Given the description of an element on the screen output the (x, y) to click on. 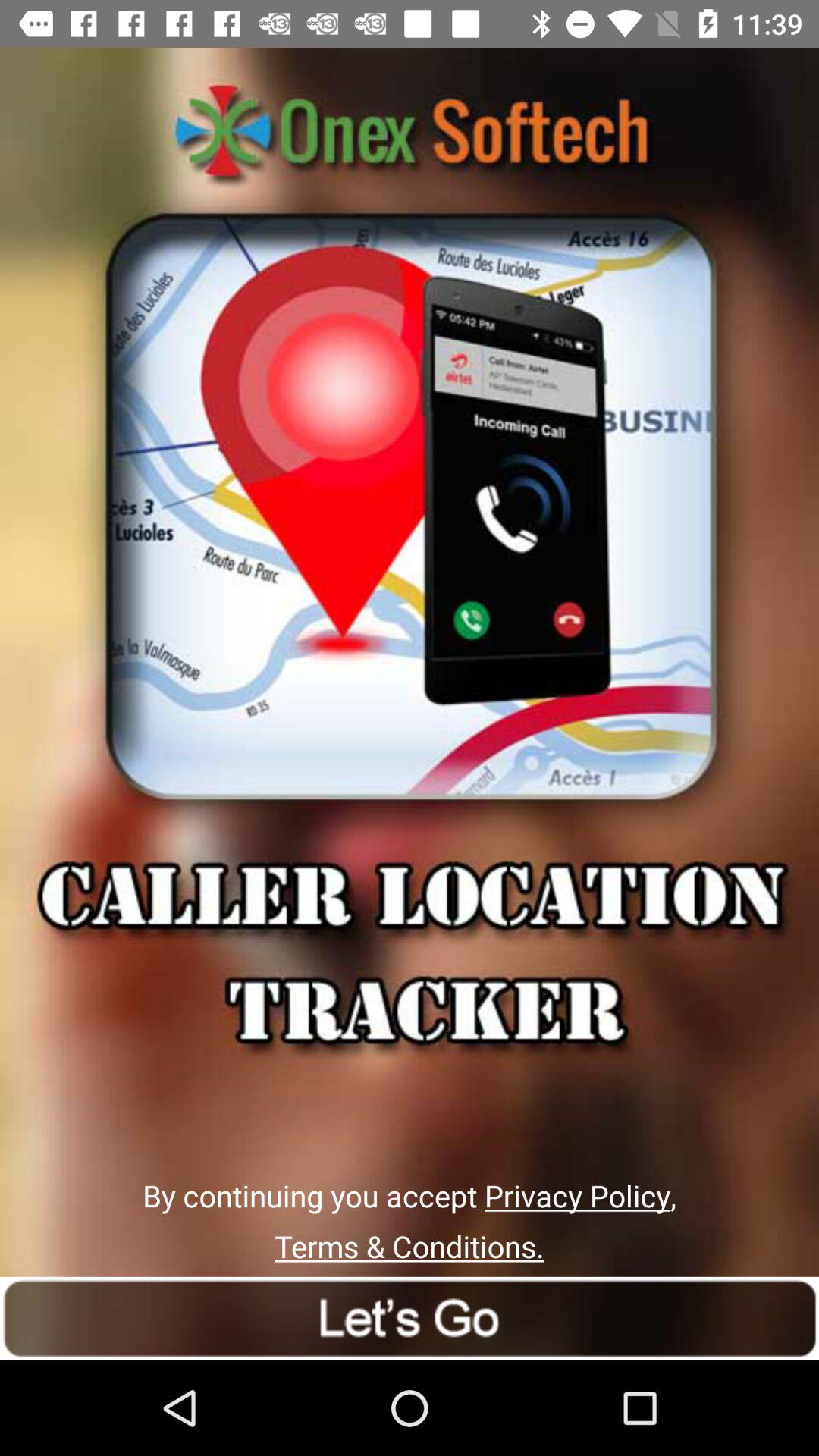
go (409, 1318)
